Given the description of an element on the screen output the (x, y) to click on. 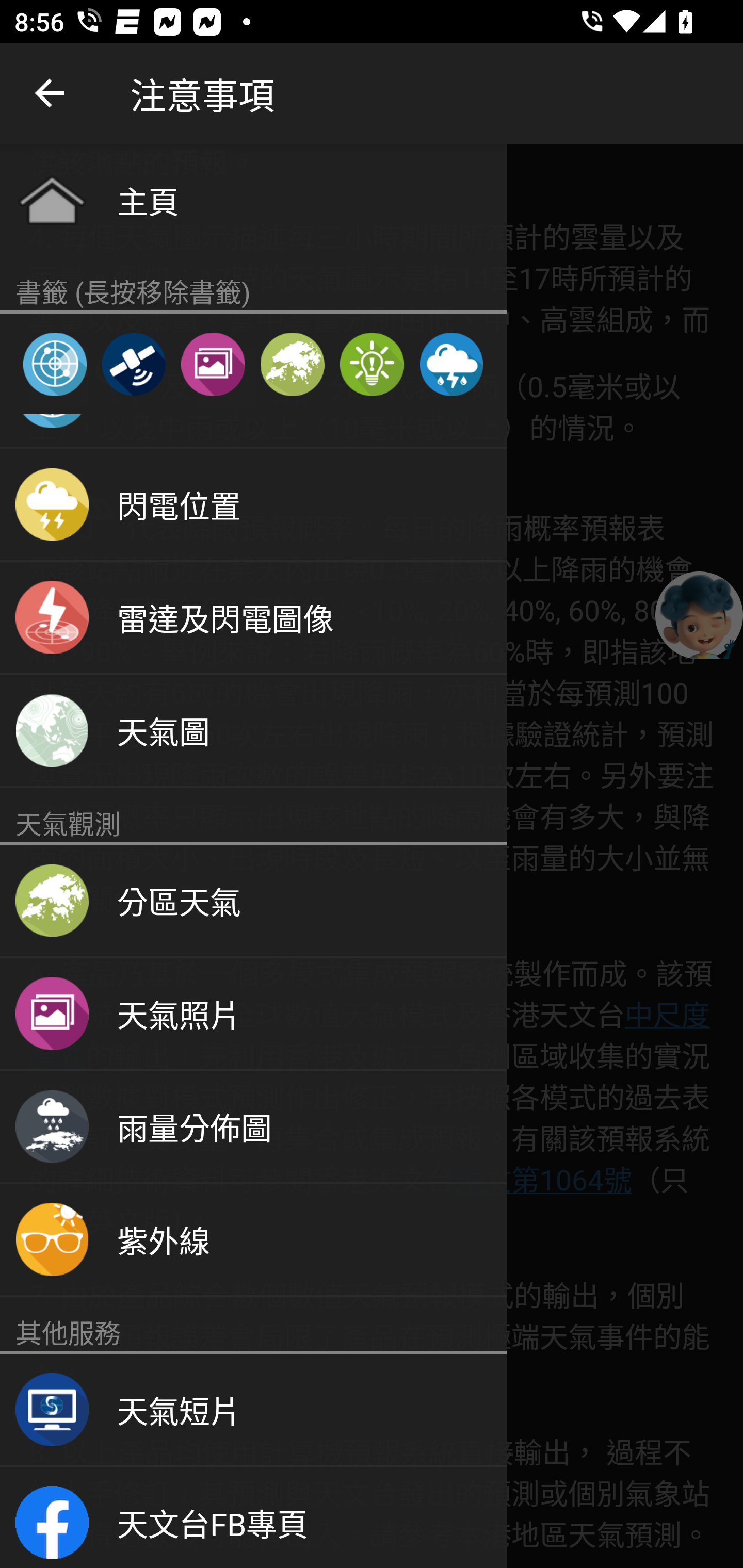
向上瀏覽 (50, 93)
主頁 (253, 199)
雷達圖像 (54, 364)
衛星圖像 (133, 364)
天氣照片 (212, 364)
分區天氣 (292, 364)
天氣提示 (371, 364)
定點降雨及閃電預報 (451, 364)
閃電位置 (253, 505)
雷達及閃電圖像 (253, 618)
天氣圖 (253, 731)
分區天氣 (253, 901)
天氣照片 (253, 1014)
雨量分佈圖 (253, 1126)
紫外線 (253, 1239)
天氣短片 (253, 1410)
天文台FB專頁 (253, 1517)
